Given the description of an element on the screen output the (x, y) to click on. 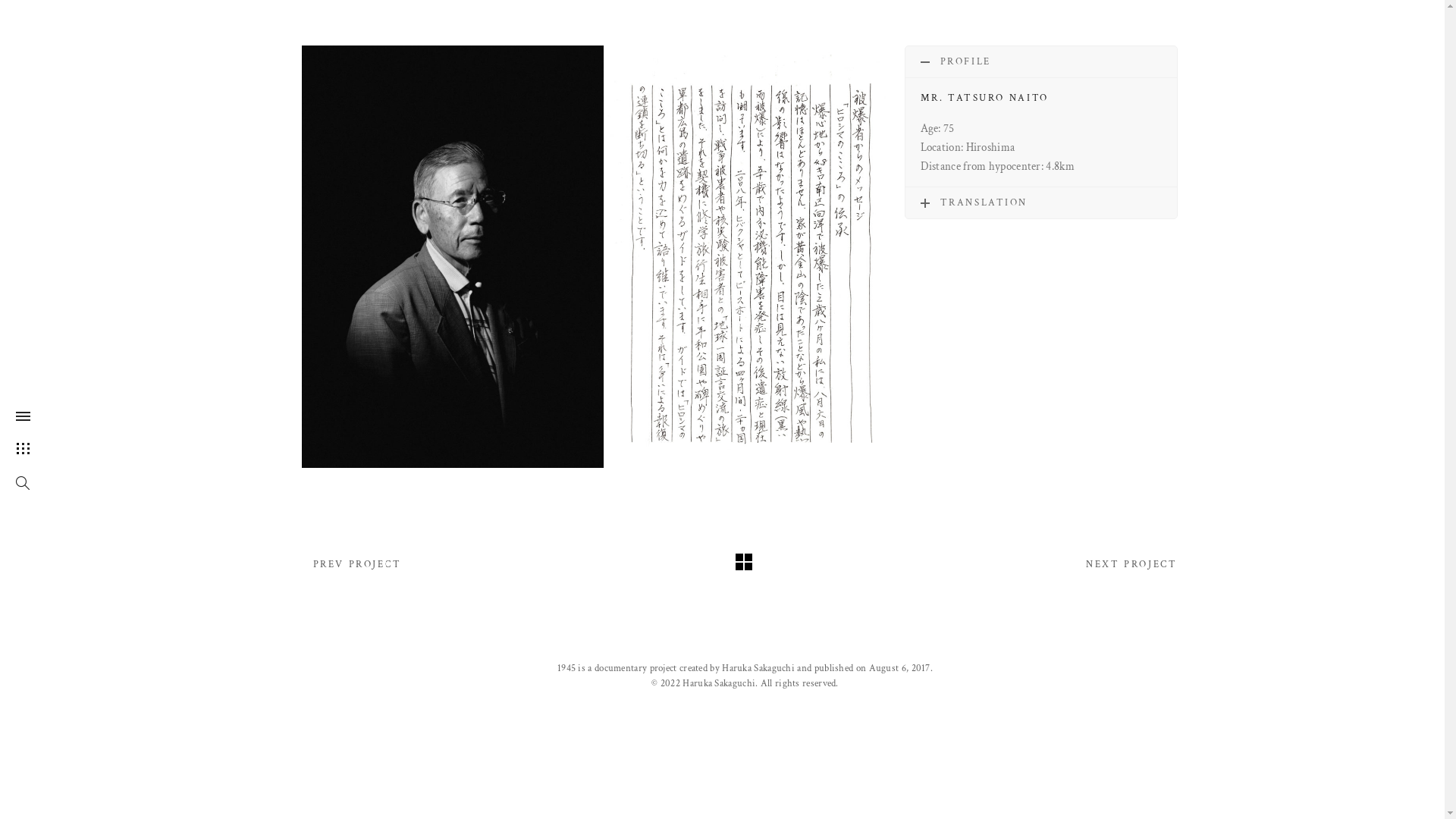
Haruka Sakaguchi Element type: text (718, 683)
PROFILE Element type: text (1040, 61)
NEXT PROJECT Element type: text (1130, 564)
TRANSLATION Element type: text (1040, 202)
PREV PROJECT Element type: text (356, 564)
Haruka Sakaguchi Element type: text (757, 668)
